Given the description of an element on the screen output the (x, y) to click on. 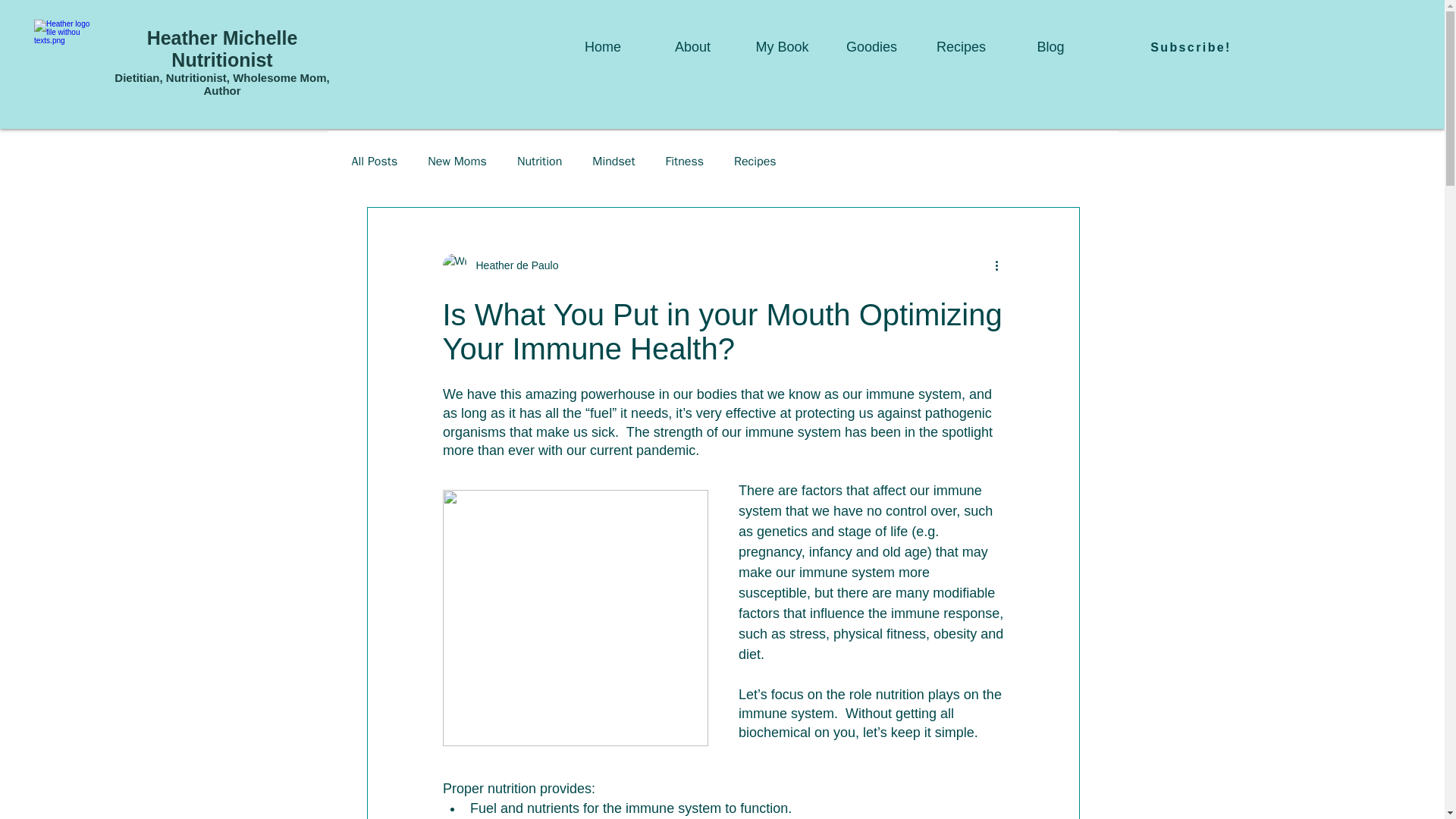
My Book (781, 46)
New Moms (457, 160)
Heather de Paulo (513, 265)
Heather Michelle Nutritionist (222, 48)
Goodies (871, 46)
About (691, 46)
Blog (1050, 46)
Home (602, 46)
Recipes (960, 46)
Fitness (684, 160)
